Given the description of an element on the screen output the (x, y) to click on. 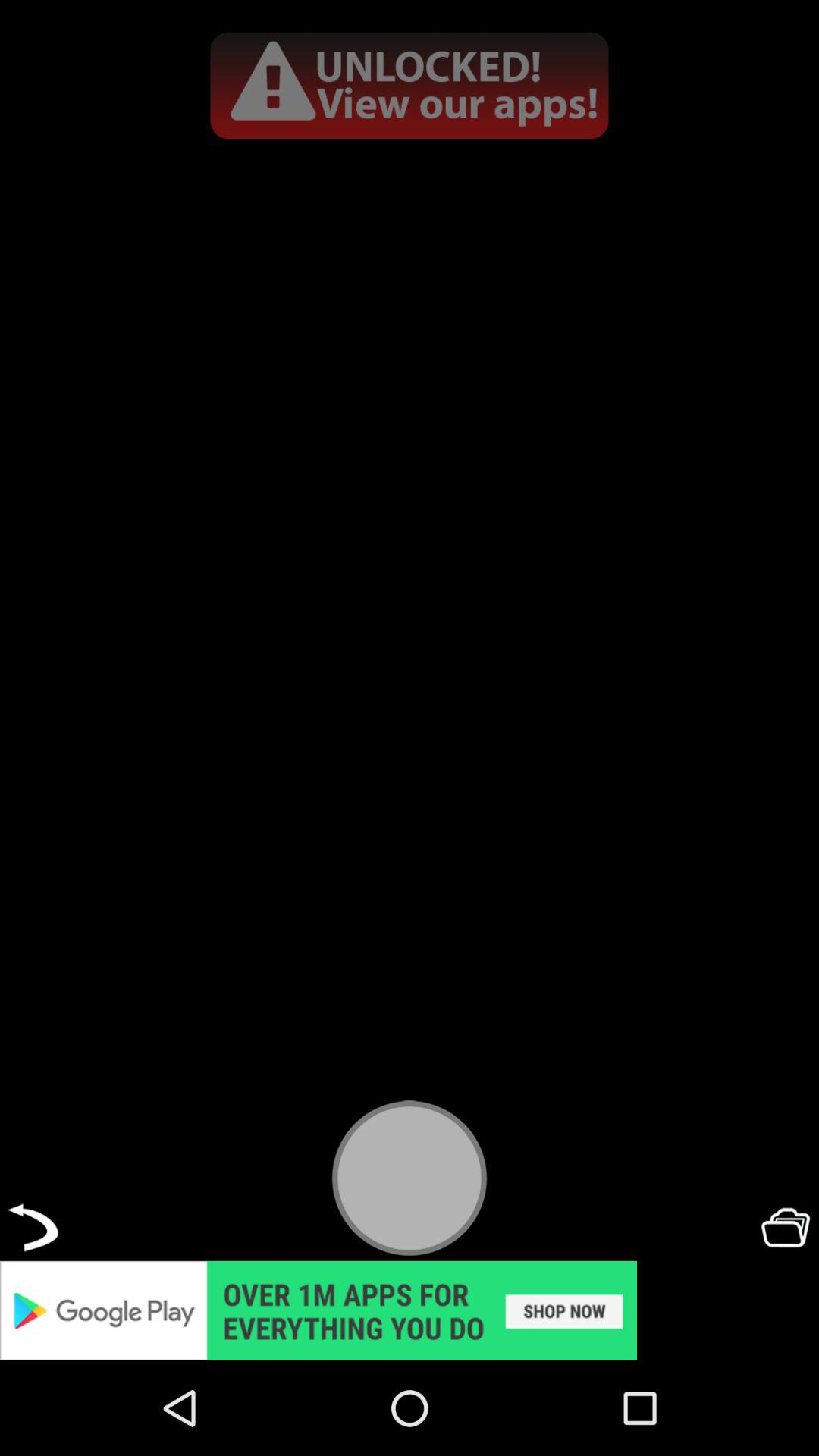
advertisement page (409, 85)
